Given the description of an element on the screen output the (x, y) to click on. 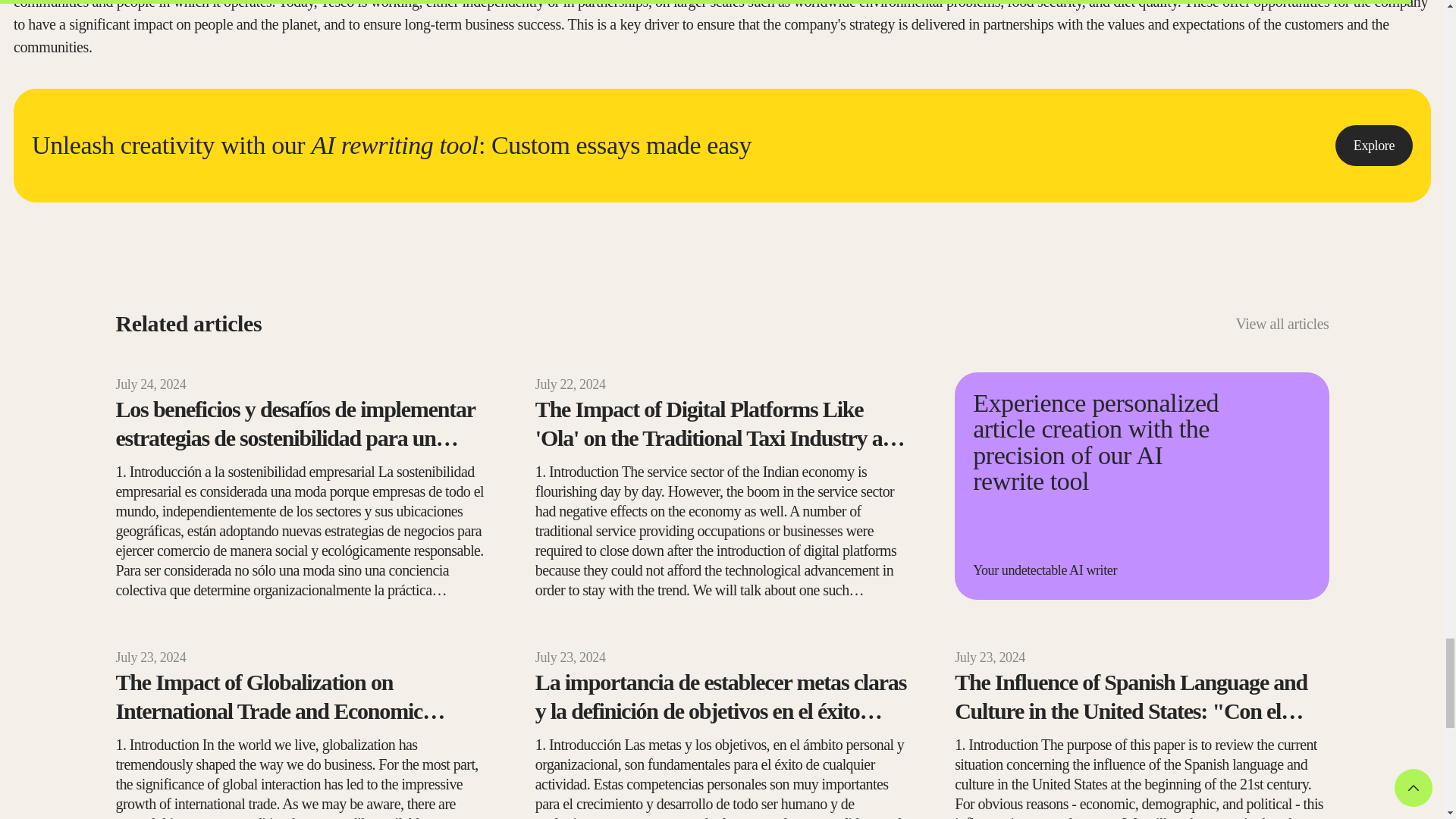
View all articles (1280, 323)
